Given the description of an element on the screen output the (x, y) to click on. 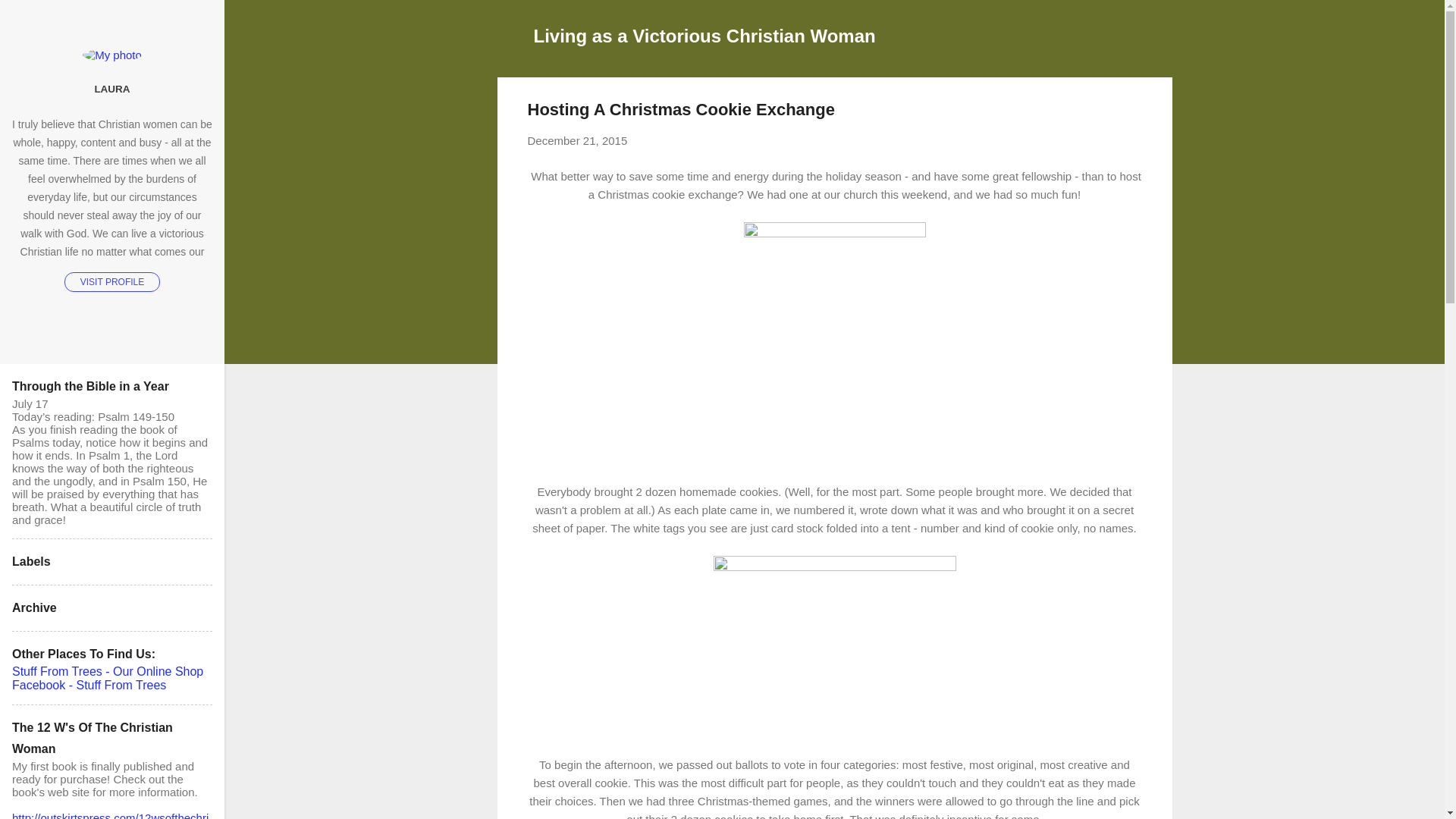
permanent link (577, 140)
Living as a Victorious Christian Woman (705, 35)
LAURA (112, 88)
Search (29, 18)
December 21, 2015 (577, 140)
